Given the description of an element on the screen output the (x, y) to click on. 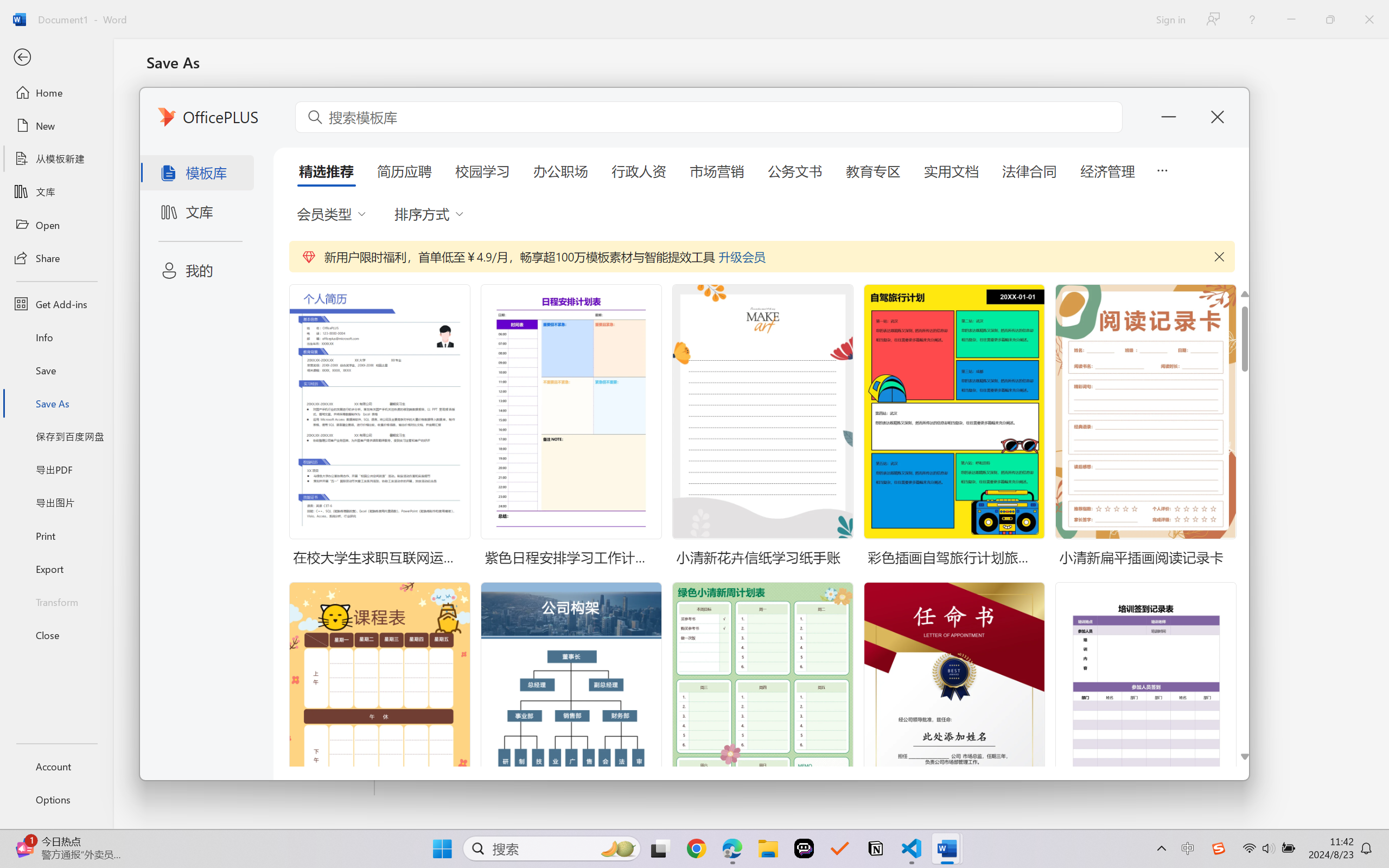
5 more tabs (1161, 169)
